Given the description of an element on the screen output the (x, y) to click on. 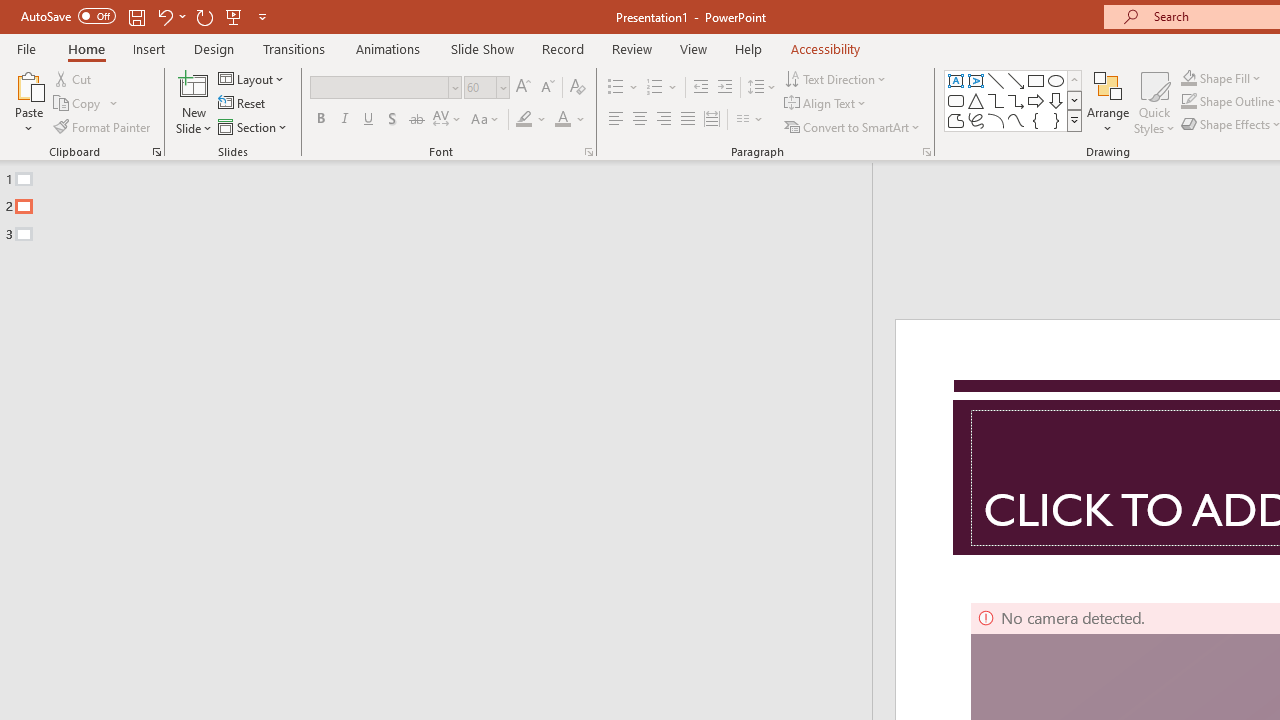
Open (502, 87)
Vertical Text Box (975, 80)
Undo (164, 15)
Shape Fill (1221, 78)
Isosceles Triangle (975, 100)
Line Spacing (762, 87)
Slide Show (481, 48)
Font (385, 87)
Align Left (616, 119)
Design (214, 48)
Paragraph... (926, 151)
Change Case (486, 119)
Arc (995, 120)
Arrow: Right (1035, 100)
Justify (687, 119)
